Given the description of an element on the screen output the (x, y) to click on. 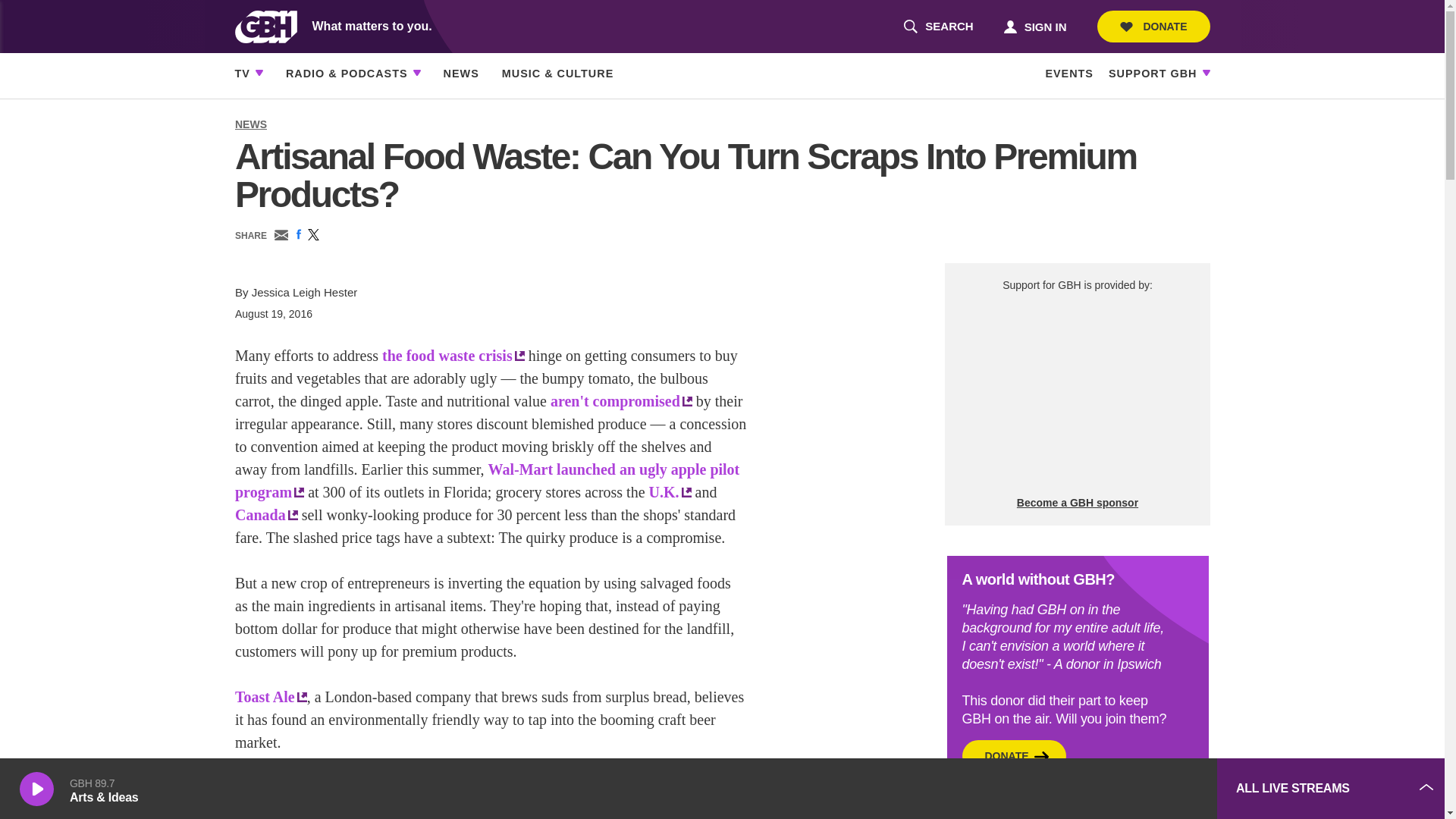
3rd party ad content (1091, 788)
SIGN IN (1034, 25)
DONATE (937, 26)
3rd party ad content (1153, 26)
